Given the description of an element on the screen output the (x, y) to click on. 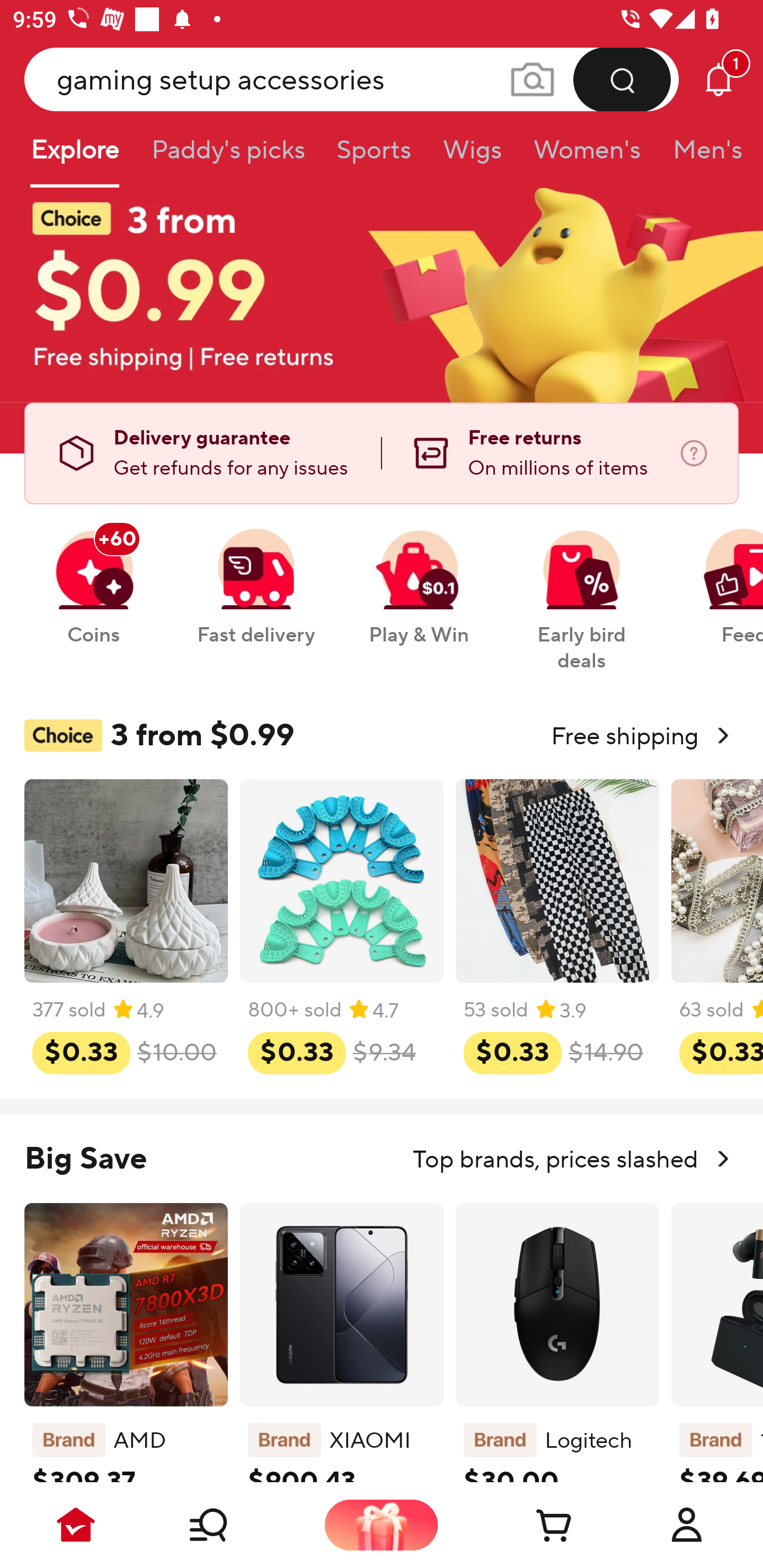
gaming setup accessories (351, 79)
Paddy's picks (227, 155)
Sports (373, 155)
Wigs (472, 155)
Women's (586, 155)
Men's (701, 155)
Coinsbutton +60 Coins (93, 576)
Fast deliverybutton Fast delivery (255, 576)
Play & Winbutton Play & Win (418, 576)
Early bird dealsbutton Early bird deals (581, 589)
Feedbutton Feed (719, 576)
Shop (228, 1524)
Cart (533, 1524)
Account (686, 1524)
